Given the description of an element on the screen output the (x, y) to click on. 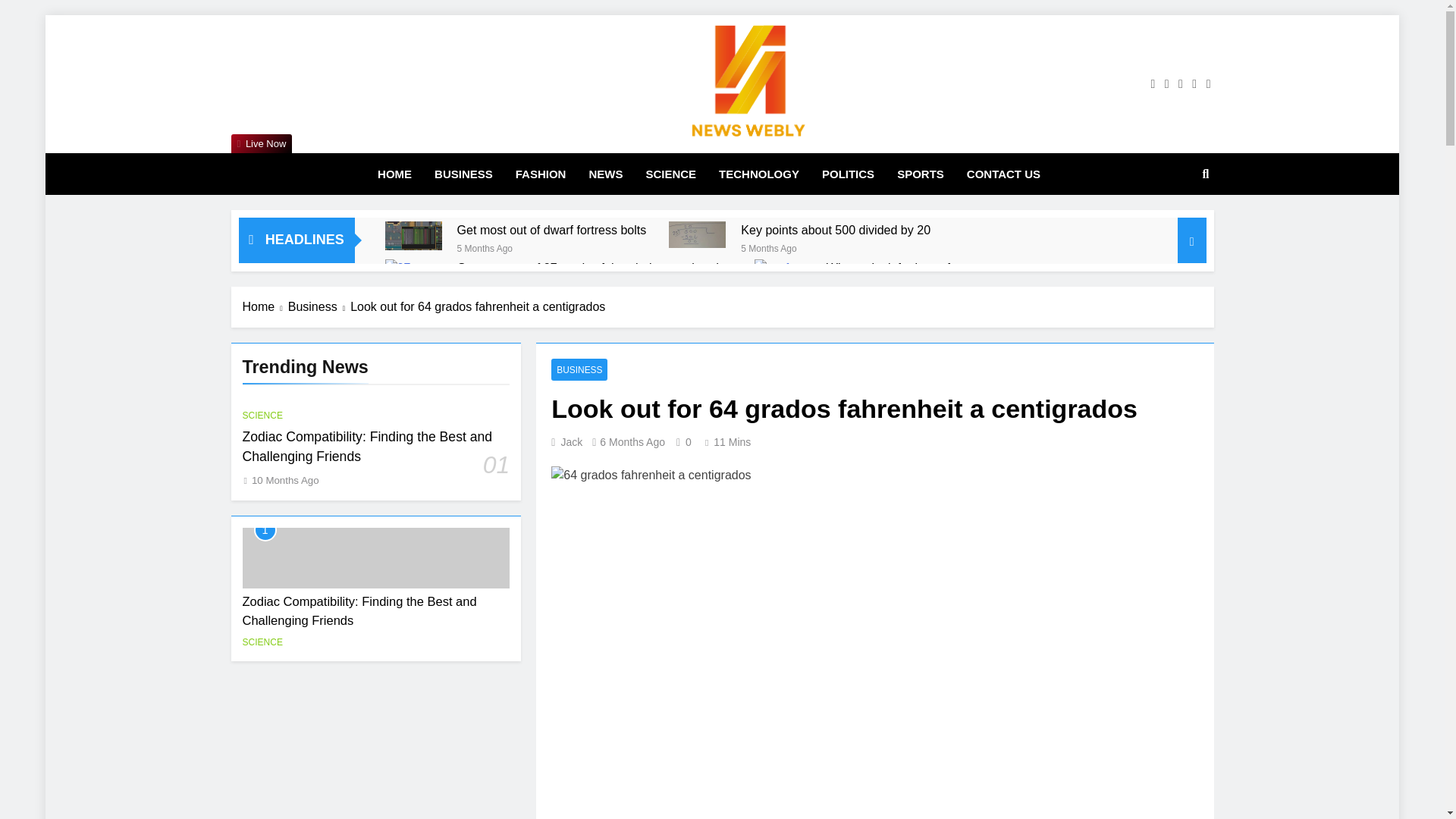
What to look for in vsuf (888, 268)
Key points about 500 divided by 20 (835, 229)
What to look for in vsuf (782, 285)
Get most out of dwarf fortress bolts (551, 229)
Key points about 500 divided by 20 (835, 229)
CONTACT US (1003, 173)
What to look for in vsuf (888, 268)
Newswebly (561, 165)
5 Months Ago (484, 246)
HOME (394, 173)
